Given the description of an element on the screen output the (x, y) to click on. 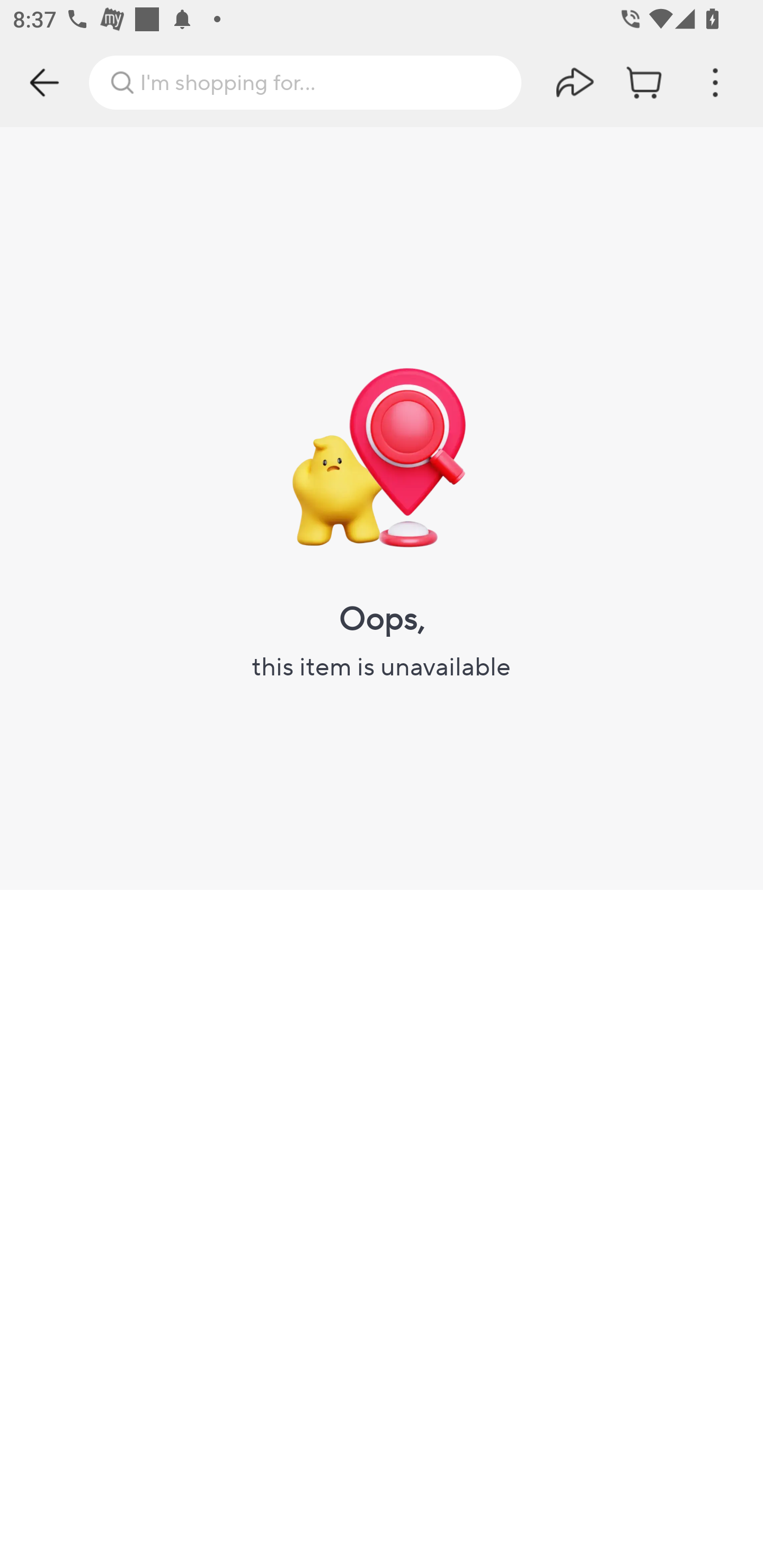
back (44, 82)
share (575, 82)
cart (645, 82)
more (715, 82)
I'm shopping for… (305, 81)
